Given the description of an element on the screen output the (x, y) to click on. 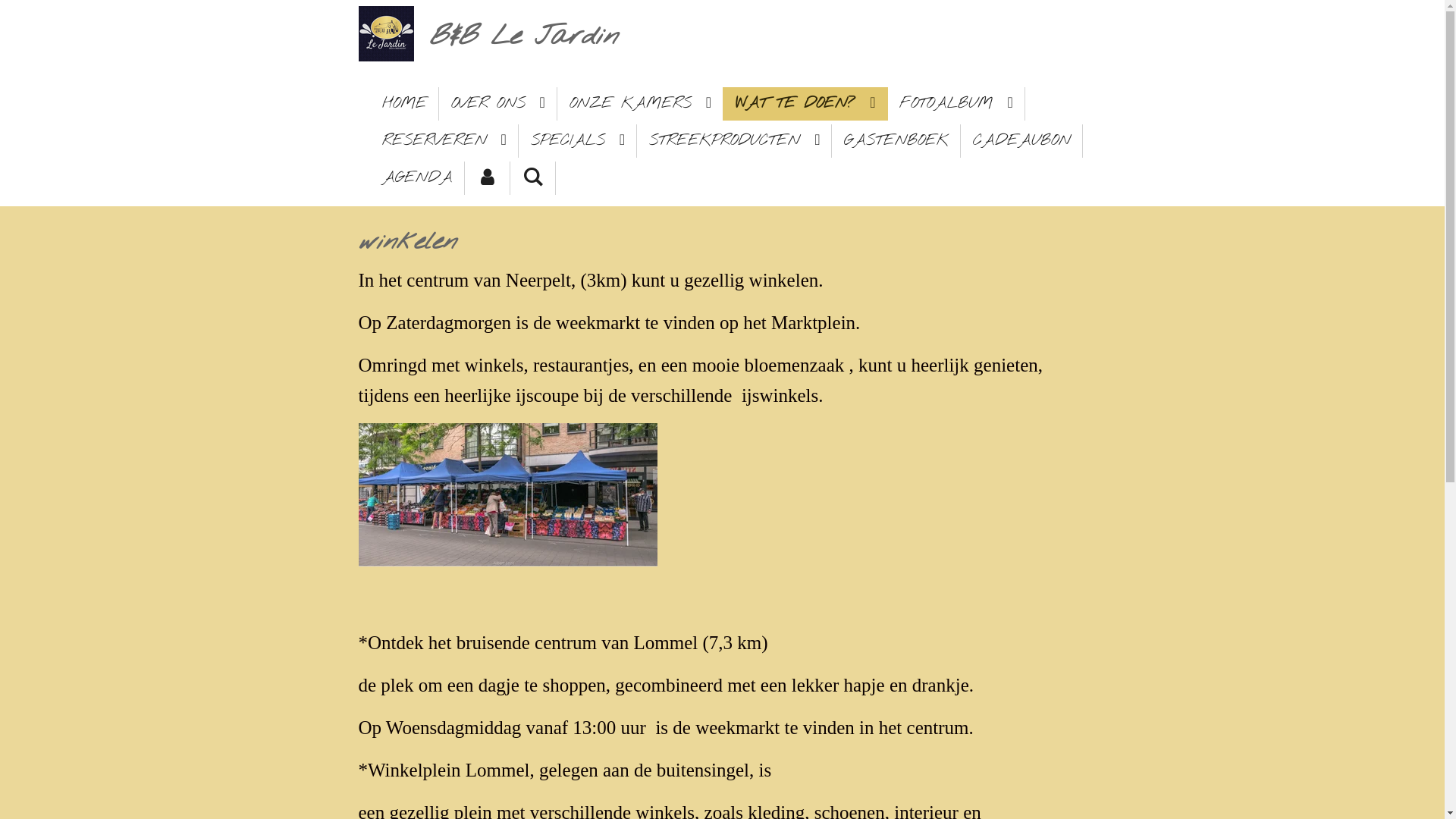
FOTOALBUM Element type: text (955, 103)
ONZE KAMERS Element type: text (640, 103)
OVER ONS Element type: text (497, 103)
GASTENBOEK Element type: text (895, 140)
WAT TE DOEN? Element type: text (805, 103)
Account Element type: hover (486, 177)
RESERVEREN Element type: text (444, 140)
STREEKPRODUCTEN Element type: text (734, 140)
AGENDA Element type: text (417, 177)
Le Jardin Element type: hover (385, 33)
SPECIALS Element type: text (577, 140)
HOME Element type: text (404, 103)
B&B Le Jardin Element type: text (523, 36)
CADEAUBON Element type: text (1021, 140)
Zoeken Element type: hover (532, 177)
